Given the description of an element on the screen output the (x, y) to click on. 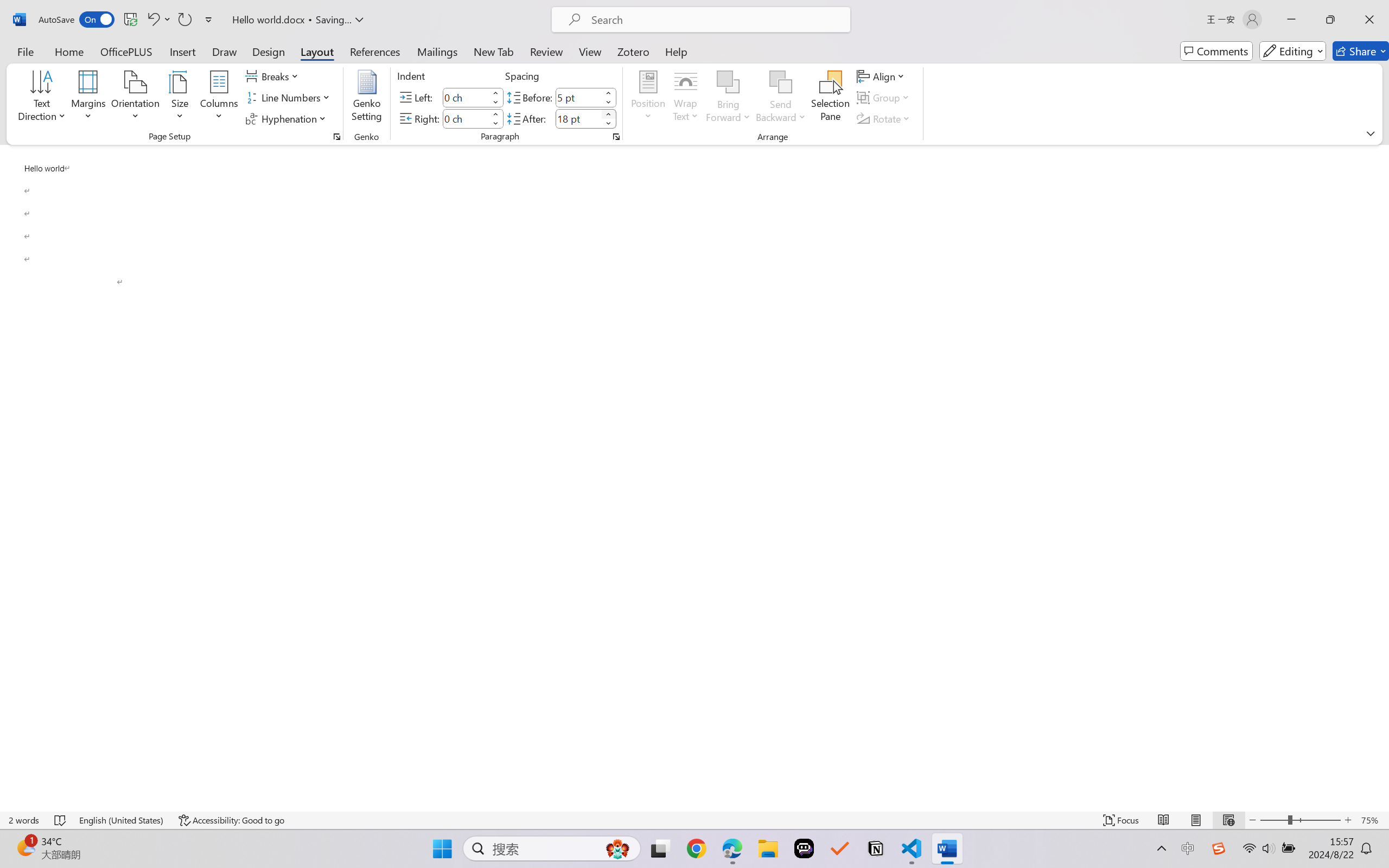
Spelling and Grammar Check No Errors (60, 819)
Send Backward (781, 97)
Zoom (1300, 819)
Accessibility Checker Accessibility: Good to go (231, 819)
Orientation (135, 97)
More (608, 113)
New Tab (493, 51)
Mailings (437, 51)
Margins (88, 97)
Focus  (1121, 819)
Print Layout (1196, 819)
Review (546, 51)
Page Setup... (336, 136)
OfficePLUS (126, 51)
Design (268, 51)
